Given the description of an element on the screen output the (x, y) to click on. 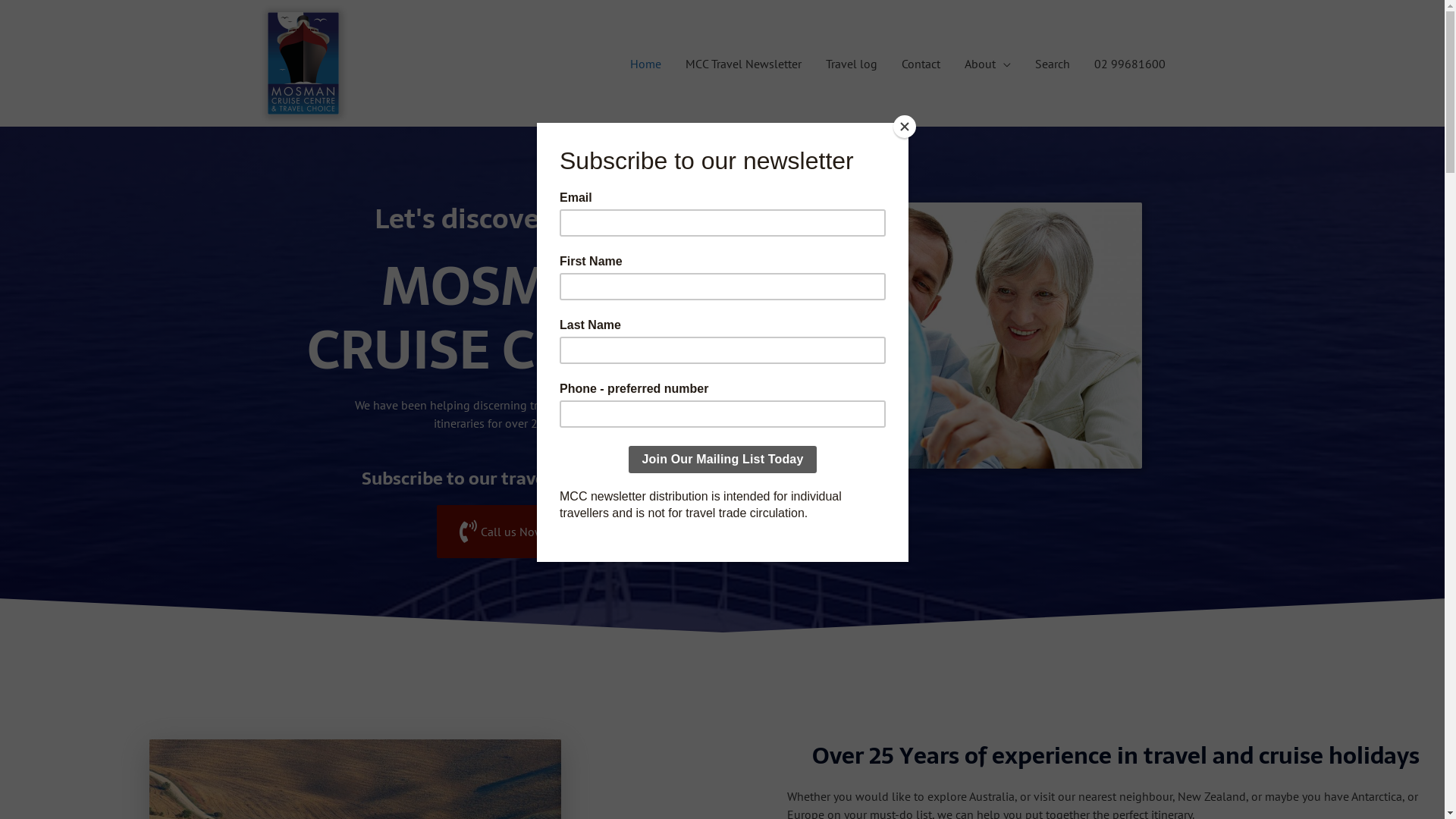
About Element type: text (987, 62)
MCC Travel Newsletter Element type: text (743, 62)
02 99681600 Element type: text (1128, 62)
Travel log Element type: text (850, 62)
Contact Element type: text (919, 62)
Home Element type: text (644, 62)
Call us Now! Element type: text (503, 531)
Subscribe to our travel newsletter Element type: text (503, 478)
Search Element type: text (1051, 62)
